Given the description of an element on the screen output the (x, y) to click on. 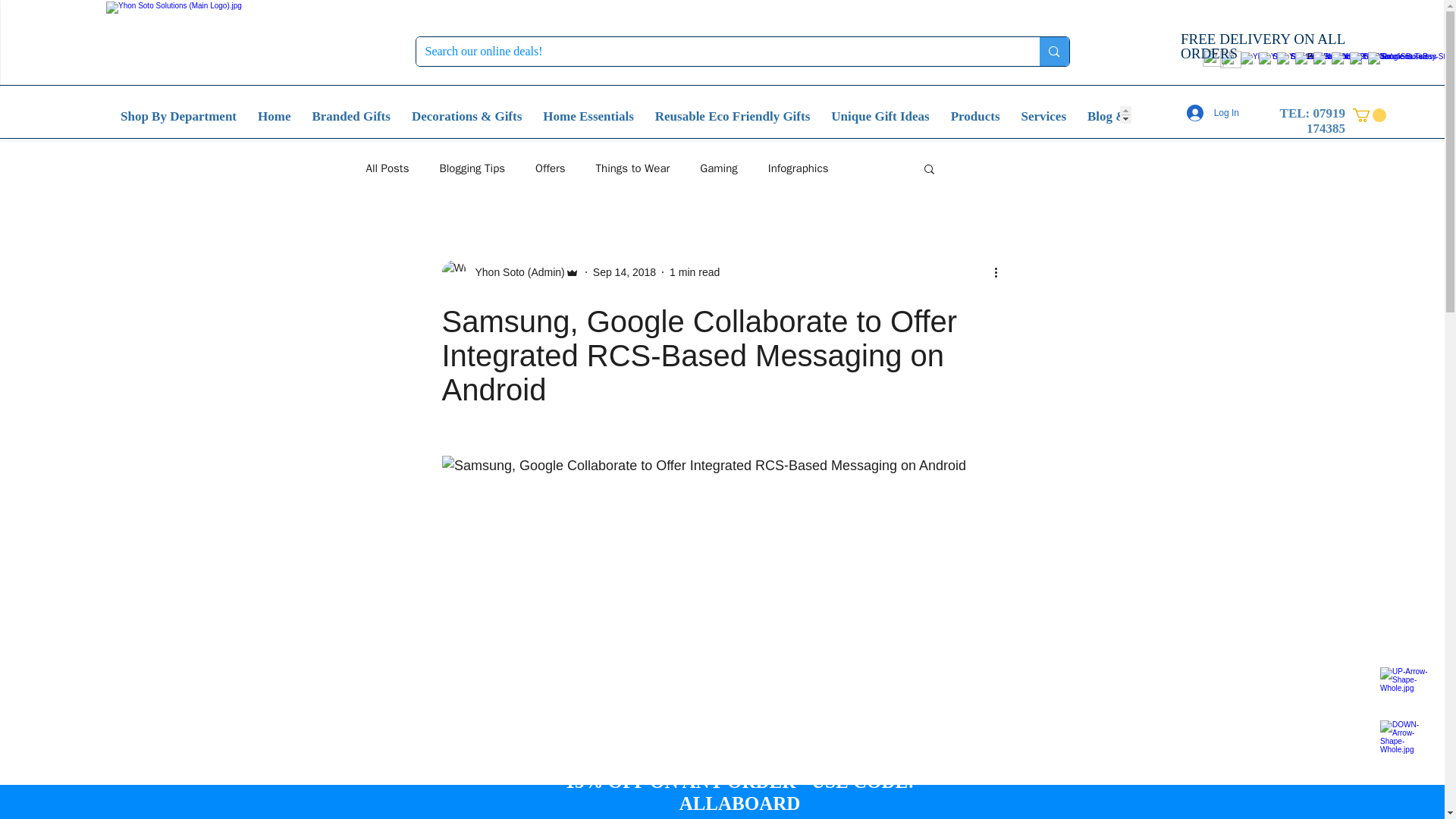
Gaming (718, 167)
Services (1043, 114)
YSS-WhatsApp-Contact-Number (1230, 58)
DOWN ARROW (1406, 742)
Offers (550, 167)
Home Essentials (587, 114)
All Posts (387, 167)
TEL: 07919 174385 (1312, 120)
Branded Gifts (350, 114)
Yhon Soto Solutions Store Lgo (233, 41)
